Given the description of an element on the screen output the (x, y) to click on. 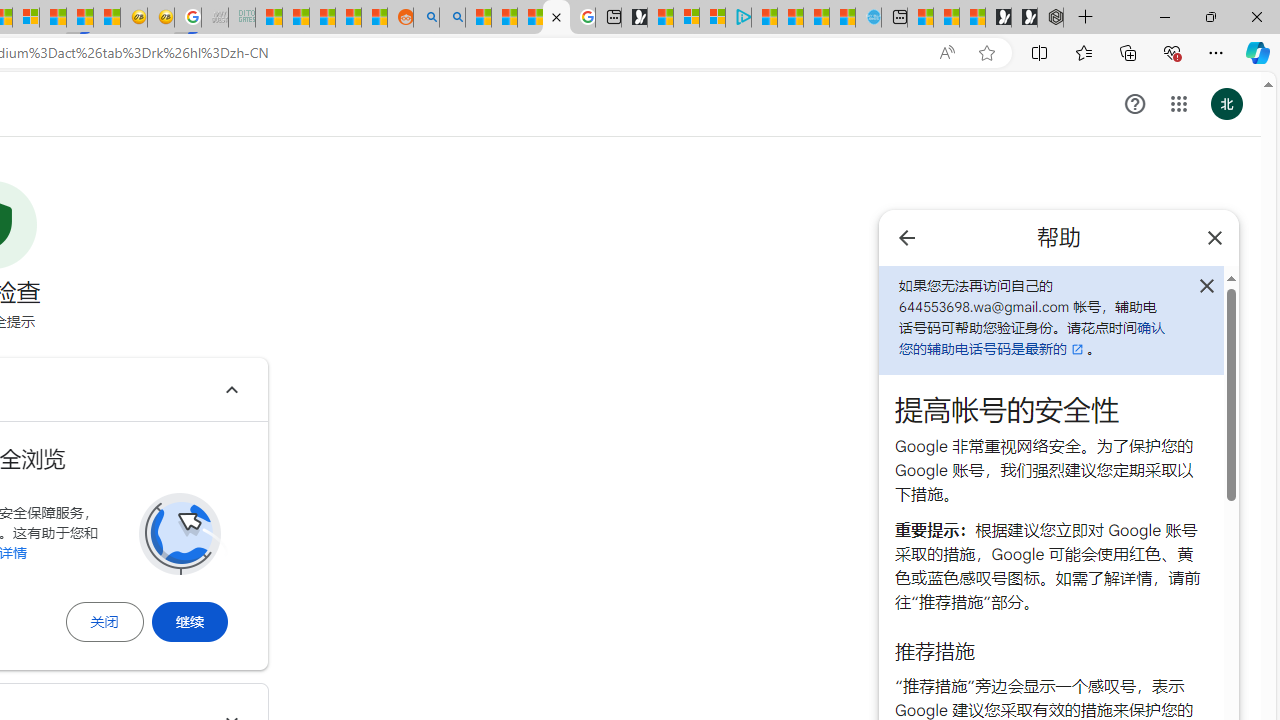
Utah sues federal government - Search (452, 17)
Class: gb_E (1178, 103)
